Given the description of an element on the screen output the (x, y) to click on. 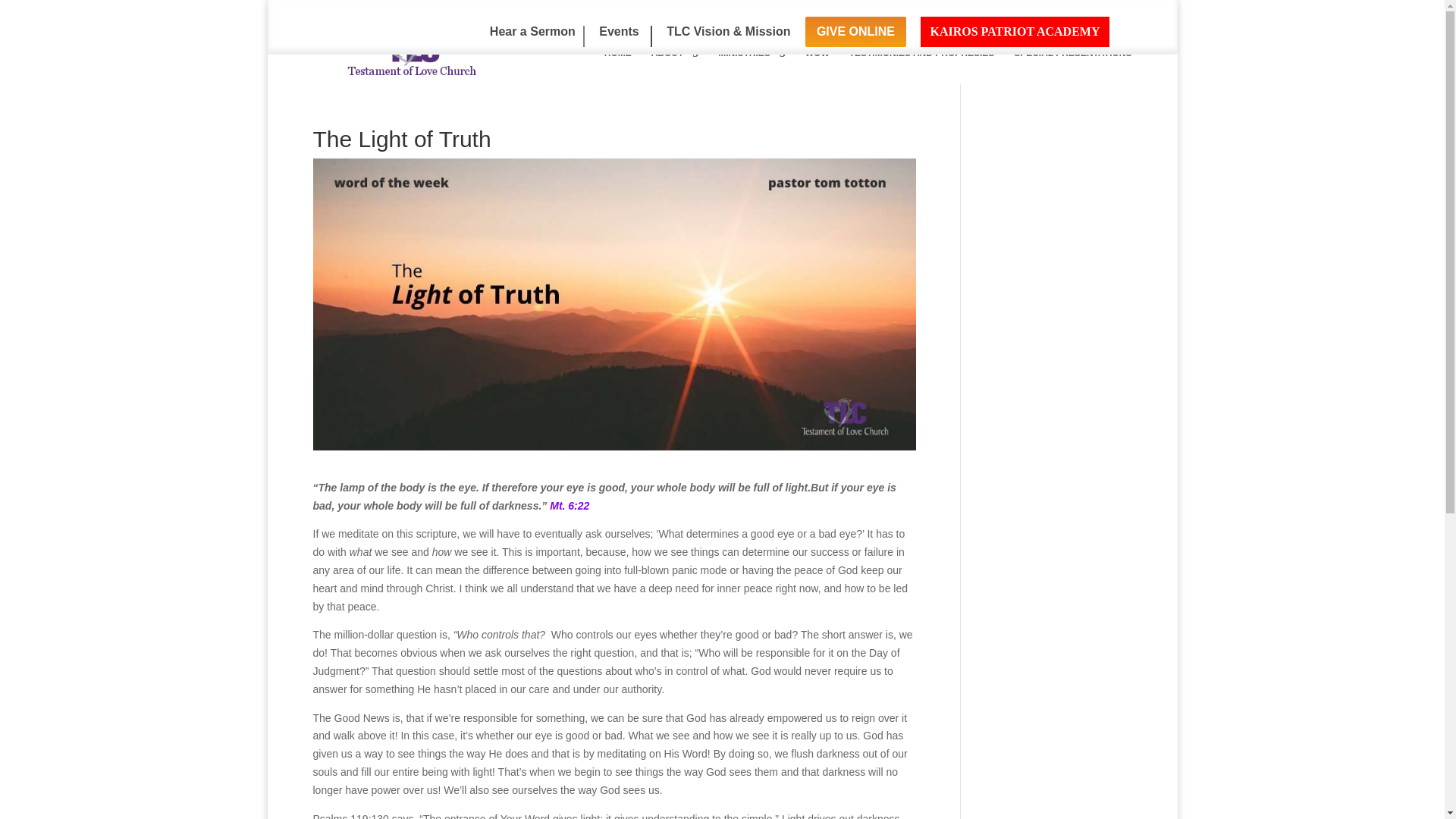
Events (624, 35)
Hear a Sermon (532, 35)
TESTIMONIES AND PROPHESIES (921, 63)
KAIROS PATRIOT ACADEMY (1014, 31)
GIVE ONLINE (855, 31)
MINISTRIES (751, 63)
Mt. 6:22 (569, 505)
ABOUT (674, 63)
SPECIAL PRESENTATIONS (1072, 63)
